Given the description of an element on the screen output the (x, y) to click on. 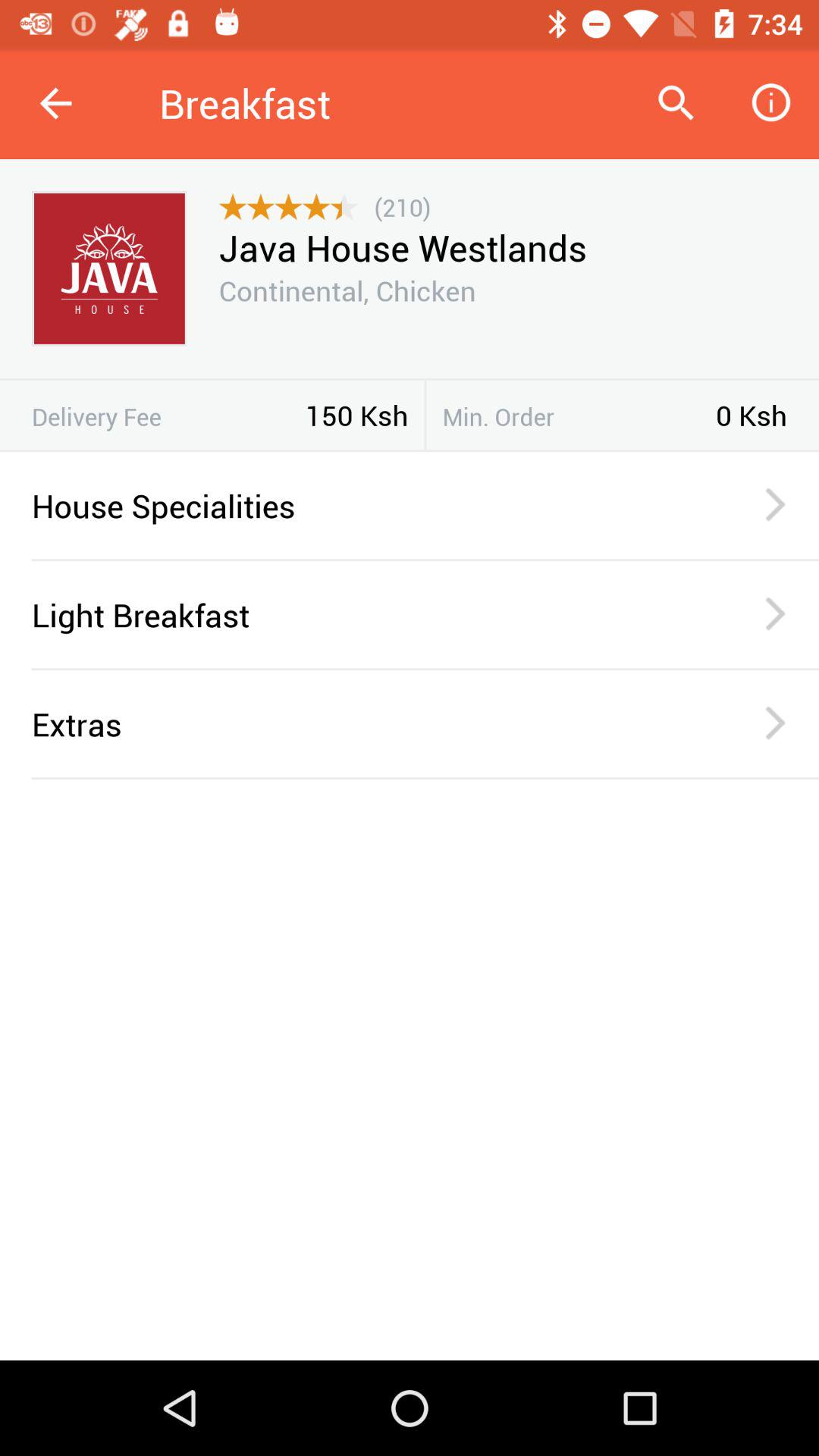
flip to java house westlands item (402, 247)
